Given the description of an element on the screen output the (x, y) to click on. 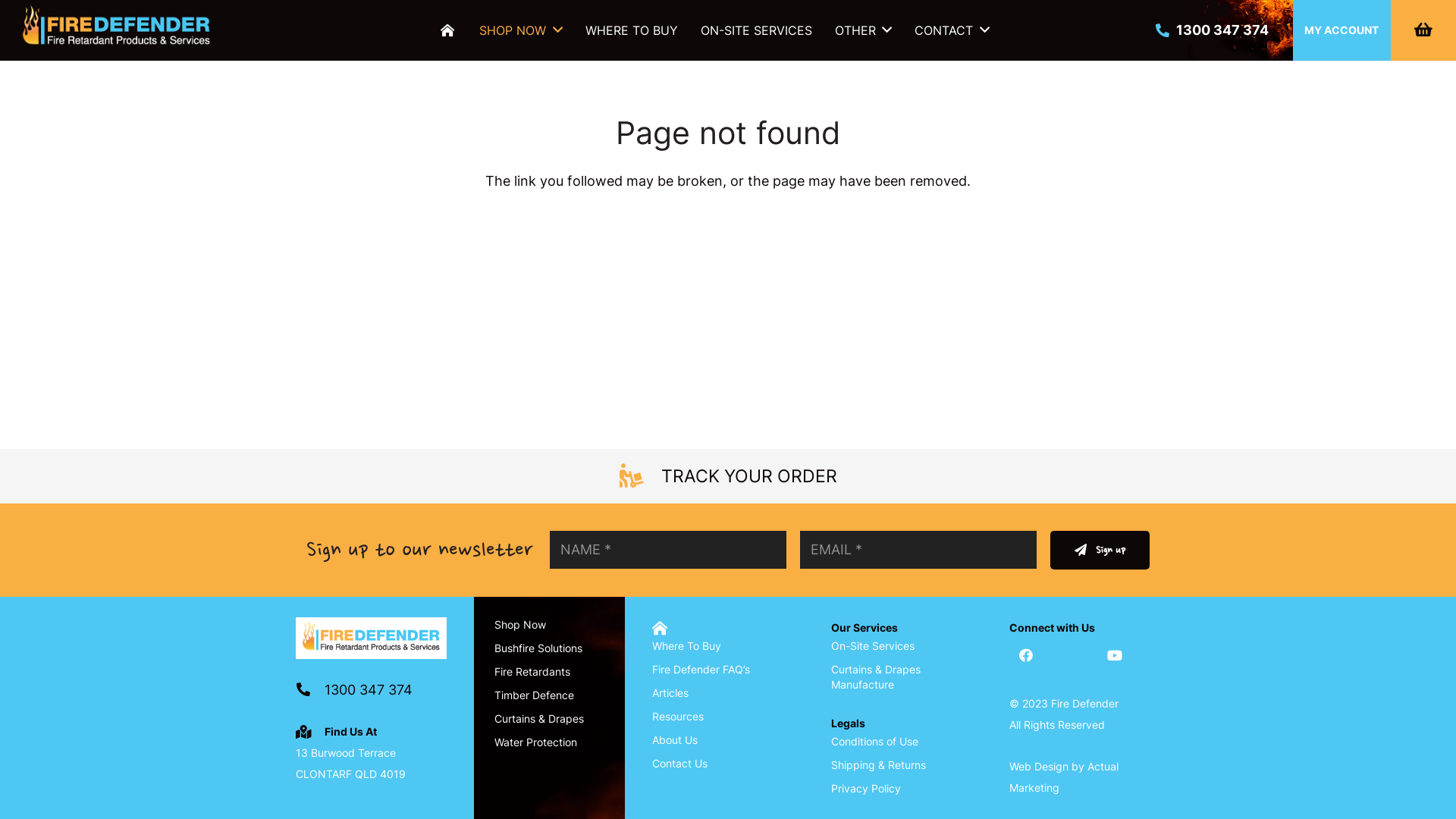
Curtains & Drapes Element type: text (538, 718)
Conditions of Use Element type: text (874, 740)
MY ACCOUNT Element type: text (1341, 30)
Sign up Element type: text (1099, 549)
Where To Buy Element type: text (686, 645)
1300 347 374 Element type: text (1211, 30)
OTHER Element type: text (863, 30)
Web Design by Actual Marketing Element type: text (1063, 776)
Resources Element type: text (677, 715)
Privacy Policy Element type: text (865, 787)
ON-SITE SERVICES Element type: text (756, 30)
CONTACT Element type: text (951, 30)
Contact Us Element type: text (679, 762)
Curtains & Drapes Manufacture Element type: text (875, 676)
Home Element type: hover (662, 627)
Facebook Element type: hover (1026, 655)
Shipping & Returns Element type: text (878, 764)
Water Protection Element type: text (535, 741)
Articles Element type: text (670, 692)
On-Site Services Element type: text (872, 645)
SHOP NOW Element type: text (520, 30)
Bushfire Solutions Element type: text (538, 647)
YouTube Element type: hover (1115, 655)
Fire Retardants Element type: text (532, 671)
About Us Element type: text (674, 739)
Timber Defence Element type: text (534, 694)
Shop Now Element type: text (520, 624)
WHERE TO BUY Element type: text (631, 30)
